Given the description of an element on the screen output the (x, y) to click on. 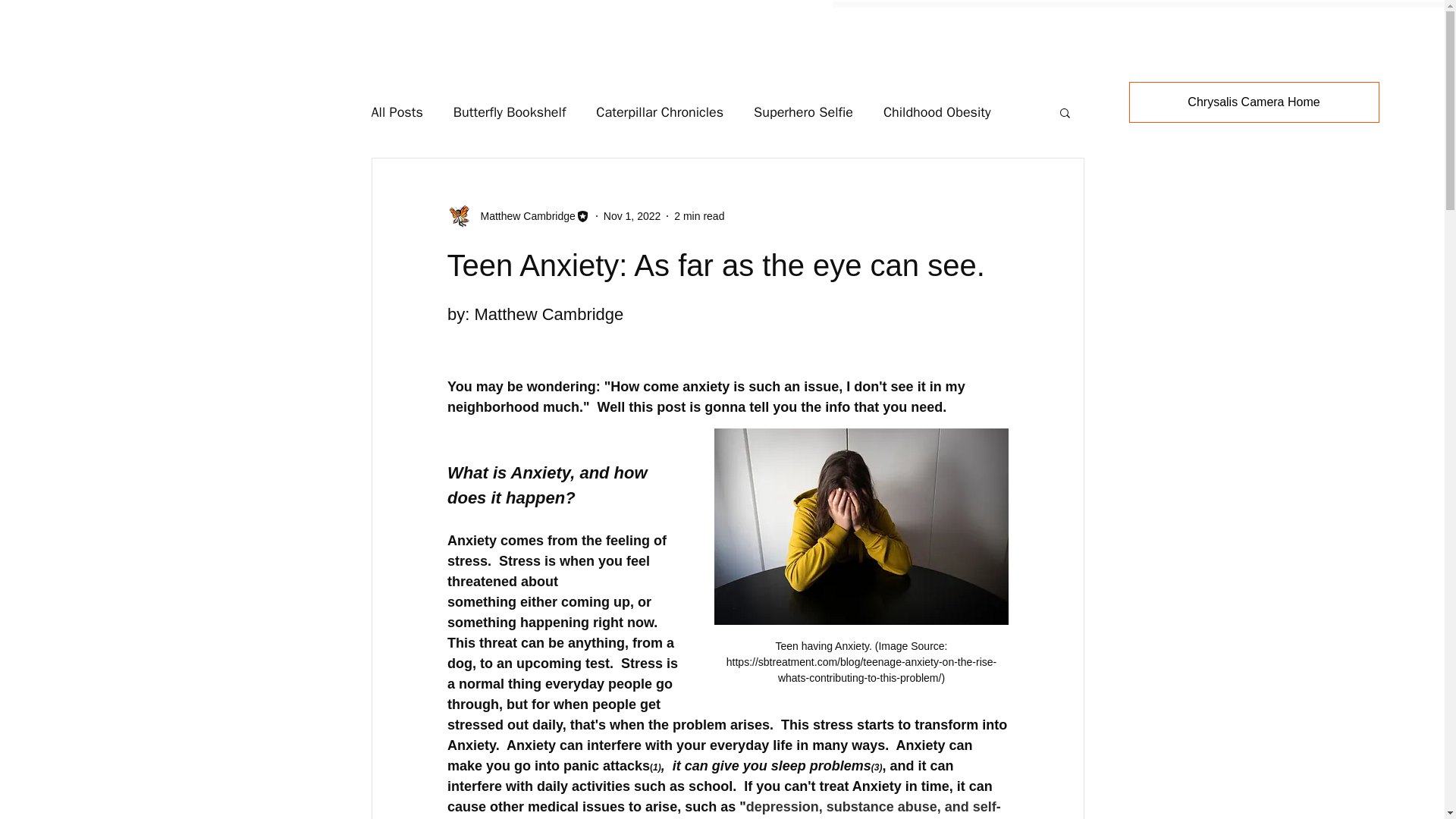
Matthew Cambridge (517, 215)
Matthew Cambridge (523, 215)
Chrysalis Camera Home (1253, 102)
Childhood Obesity (937, 112)
Butterfly Bookshelf (509, 112)
Nov 1, 2022 (632, 215)
Caterpillar Chronicles (659, 112)
2 min read (698, 215)
All Posts (397, 112)
Superhero Selfie (803, 112)
